Given the description of an element on the screen output the (x, y) to click on. 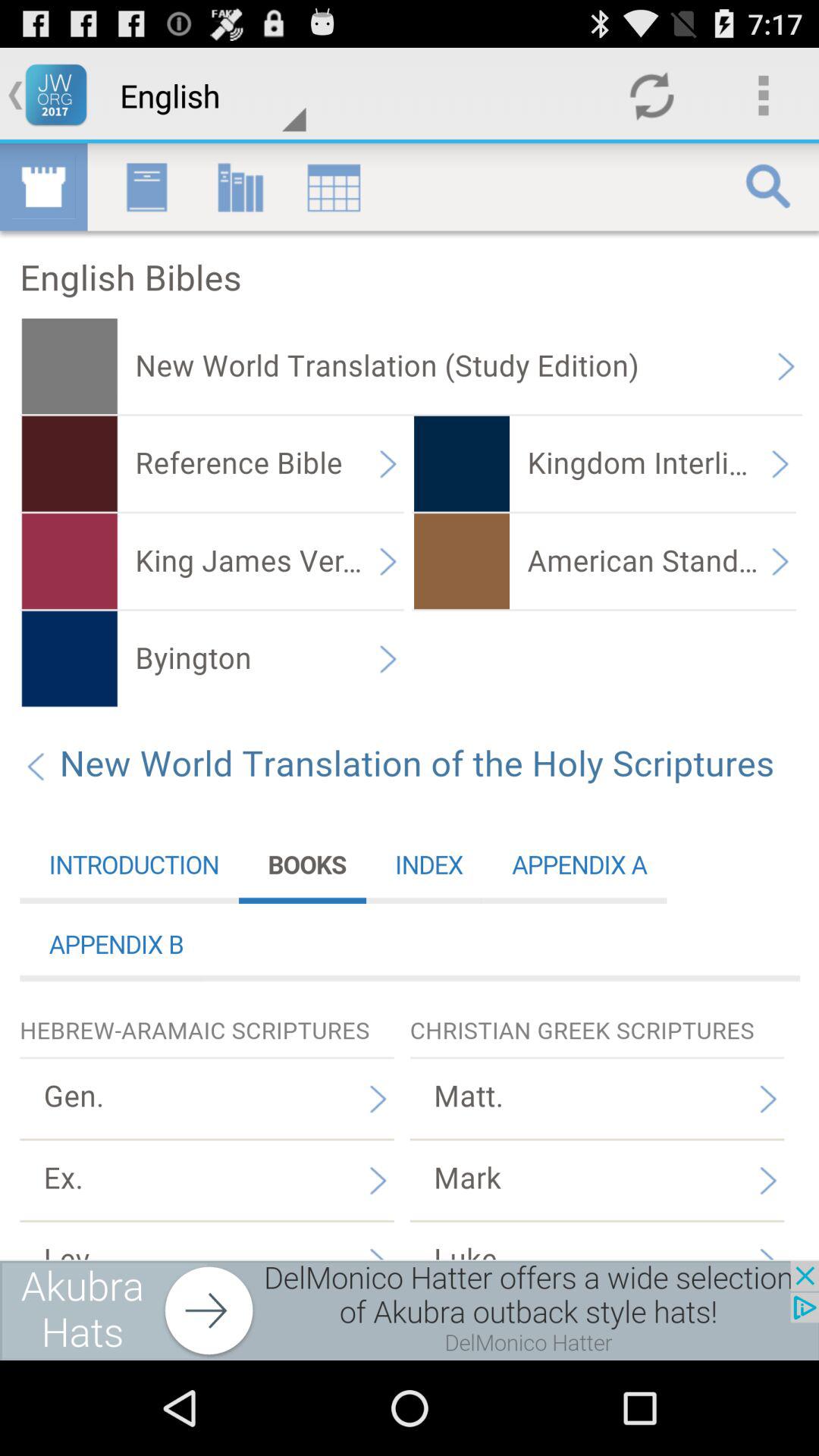
advertisement (409, 1310)
